Given the description of an element on the screen output the (x, y) to click on. 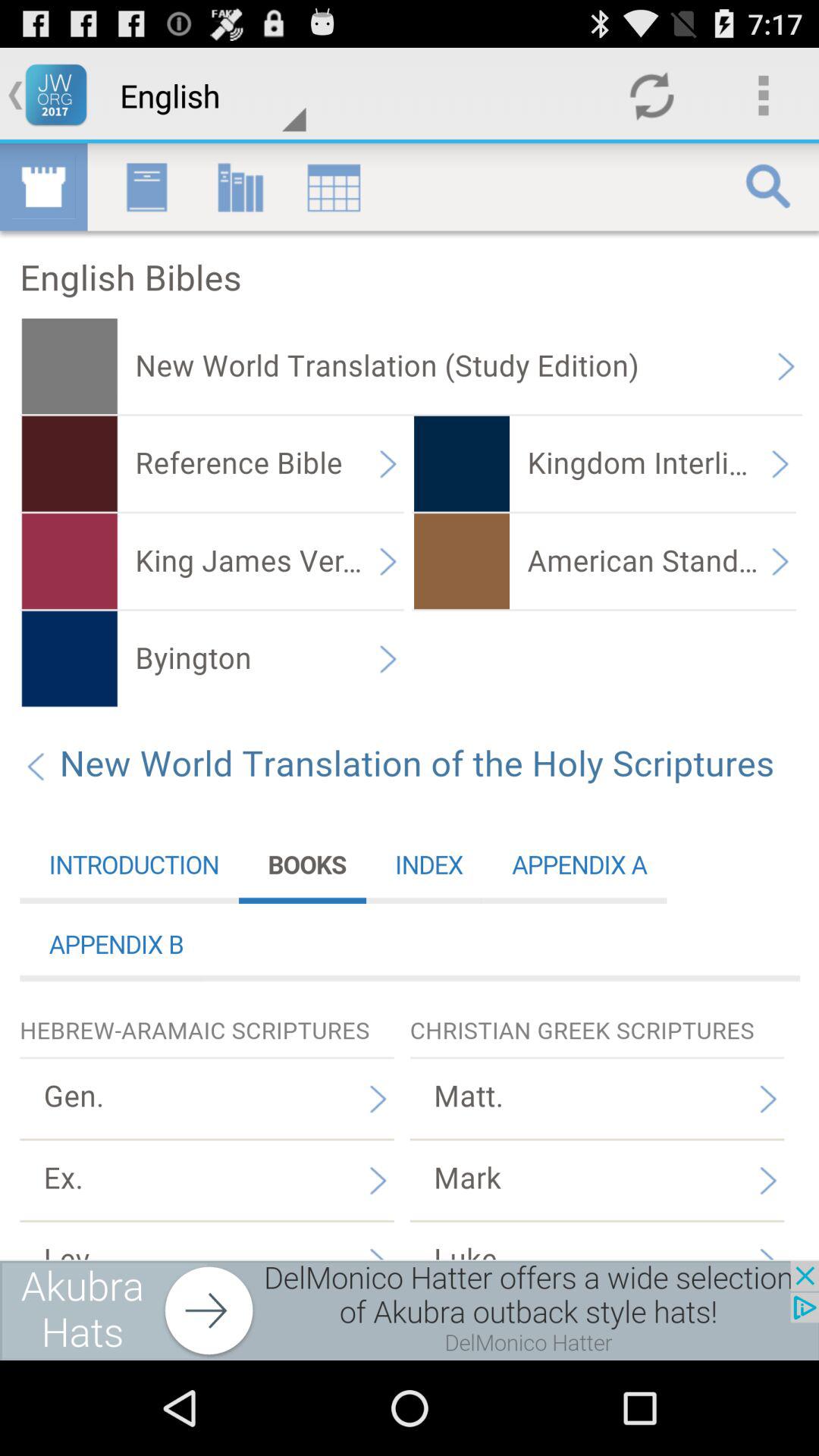
advertisement (409, 1310)
